Given the description of an element on the screen output the (x, y) to click on. 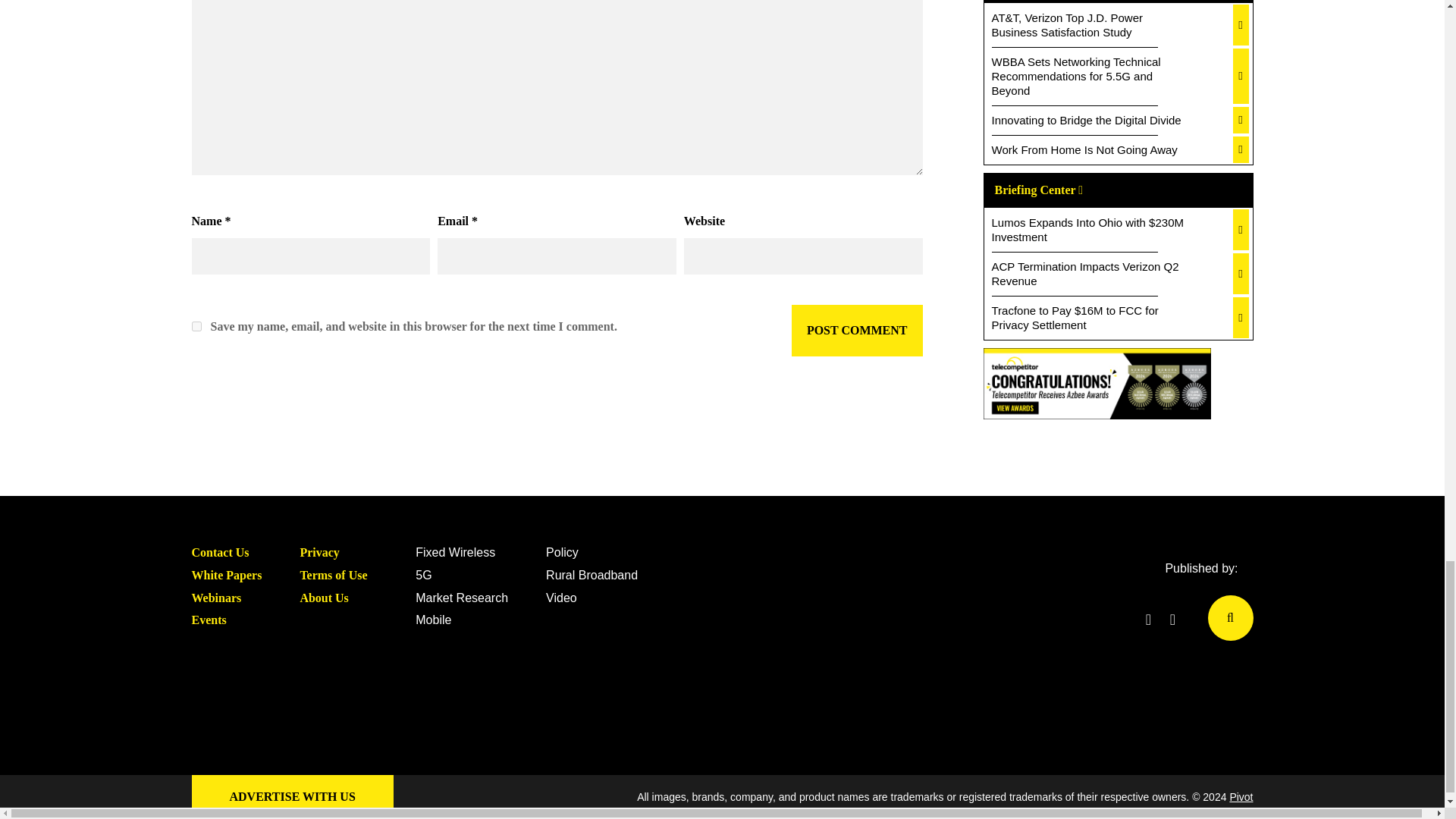
yes (195, 326)
Telecompetitor Wins Azbee Award (1095, 386)
Post Comment (857, 330)
